Given the description of an element on the screen output the (x, y) to click on. 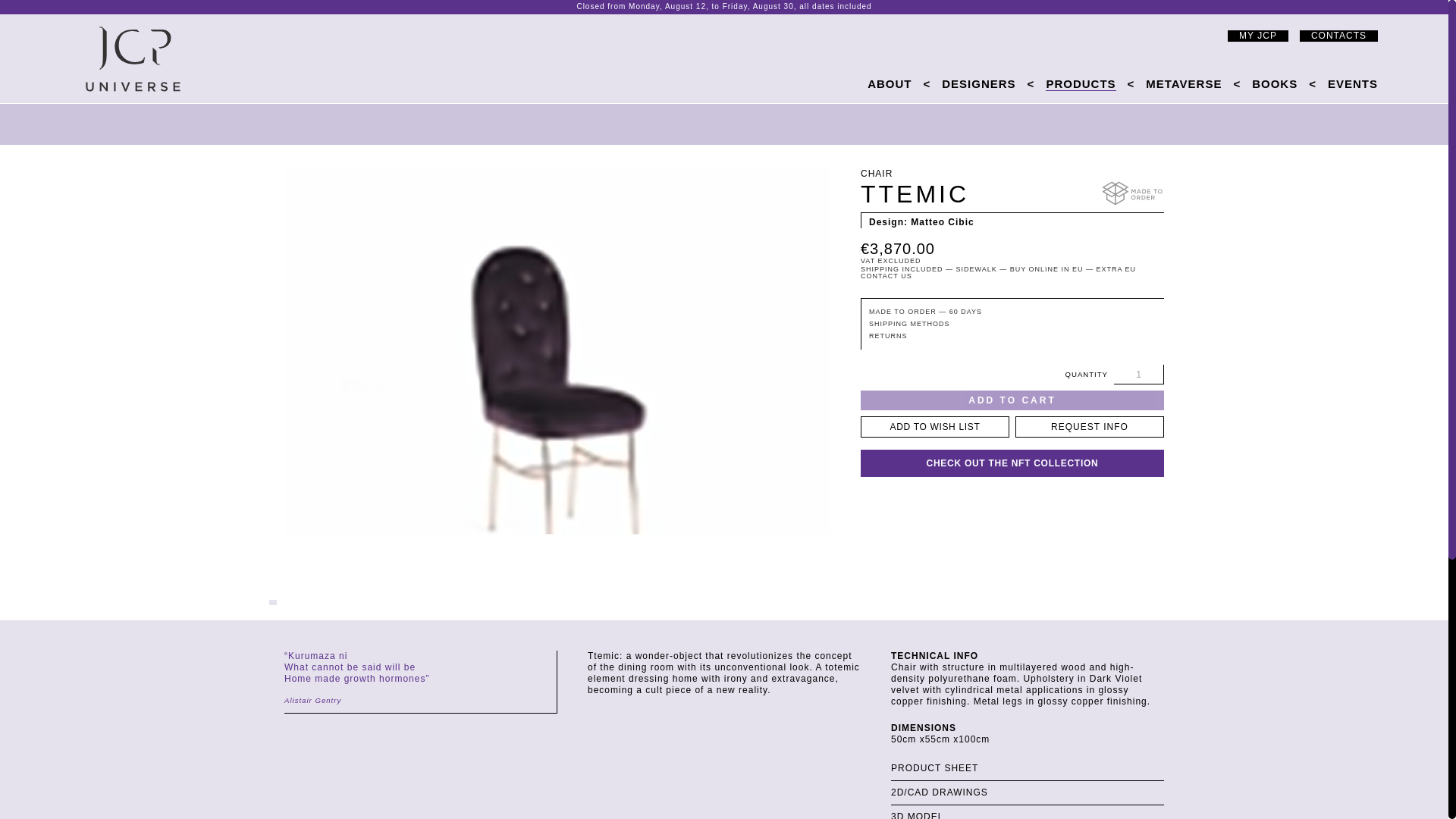
CHECK OUT THE NFT COLLECTION (1011, 462)
SHIPPING METHODS (909, 323)
Matteo Cibic (942, 222)
RETURNS (888, 335)
DESIGNERS (978, 83)
My Wish List (1177, 35)
PRODUCT SHEET (1027, 767)
Cart: (1206, 35)
Quantity (1138, 374)
REQUEST INFO (1088, 426)
CONTACTS (1338, 35)
METAVERSE (1183, 83)
BOOKS (1274, 83)
PRODUCTS (1080, 83)
